Given the description of an element on the screen output the (x, y) to click on. 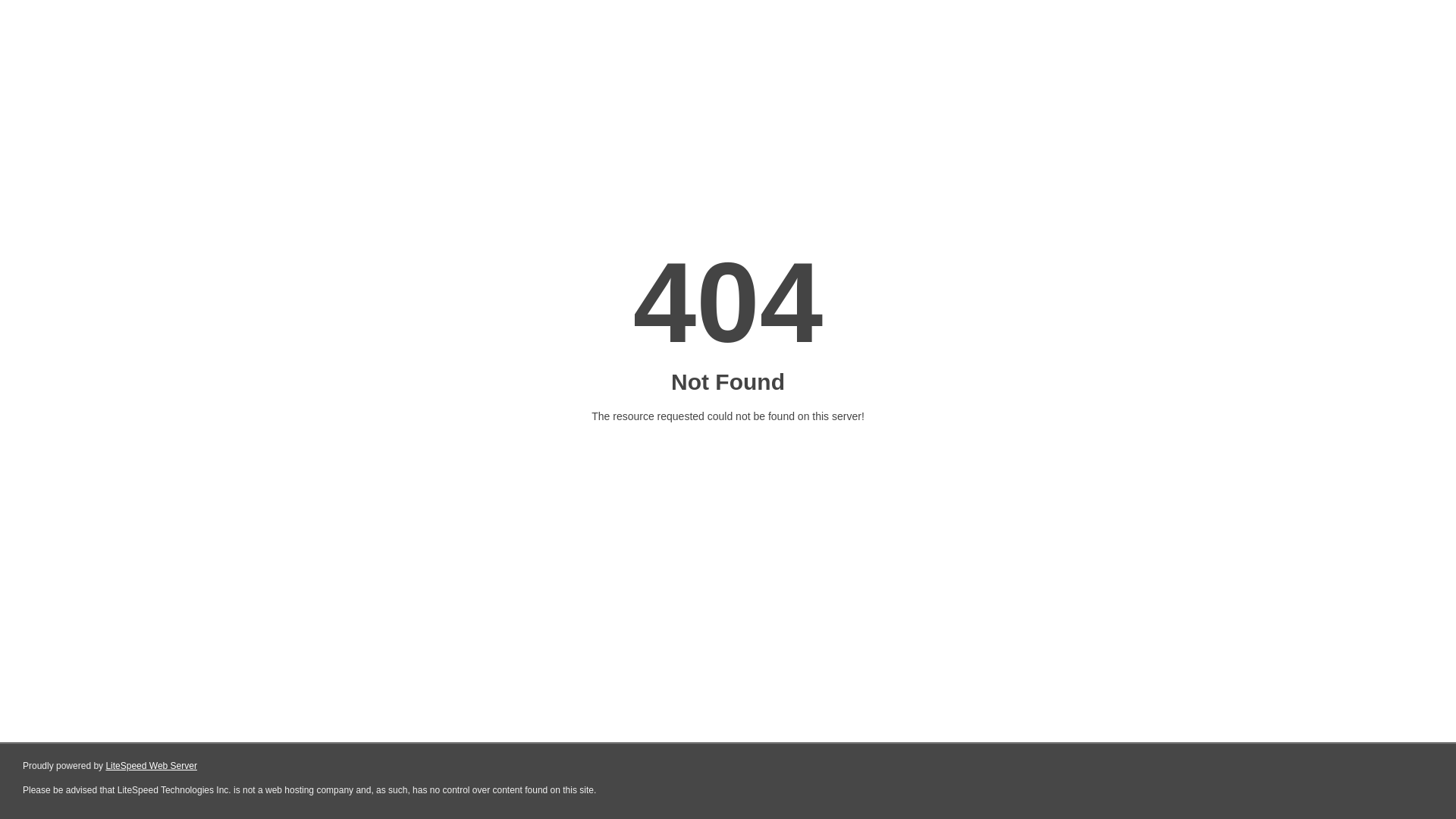
LiteSpeed Web Server Element type: text (151, 765)
